Given the description of an element on the screen output the (x, y) to click on. 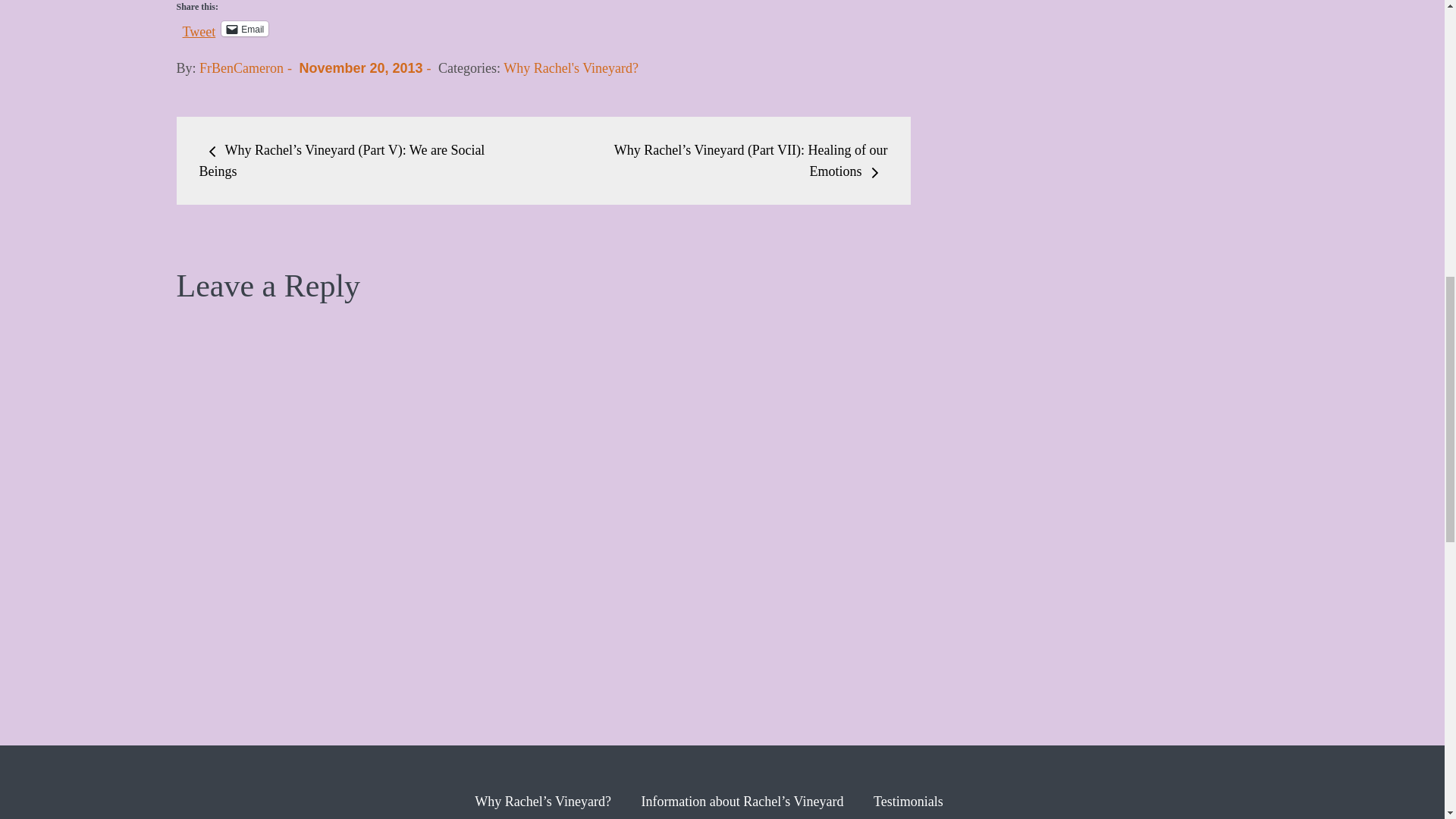
Why Rachel's Vineyard? (571, 68)
Email (244, 28)
Testimonials (908, 801)
November 20, 2013 (360, 68)
FrBenCameron (241, 68)
Tweet (198, 28)
Click to email a link to a friend (244, 28)
